Given the description of an element on the screen output the (x, y) to click on. 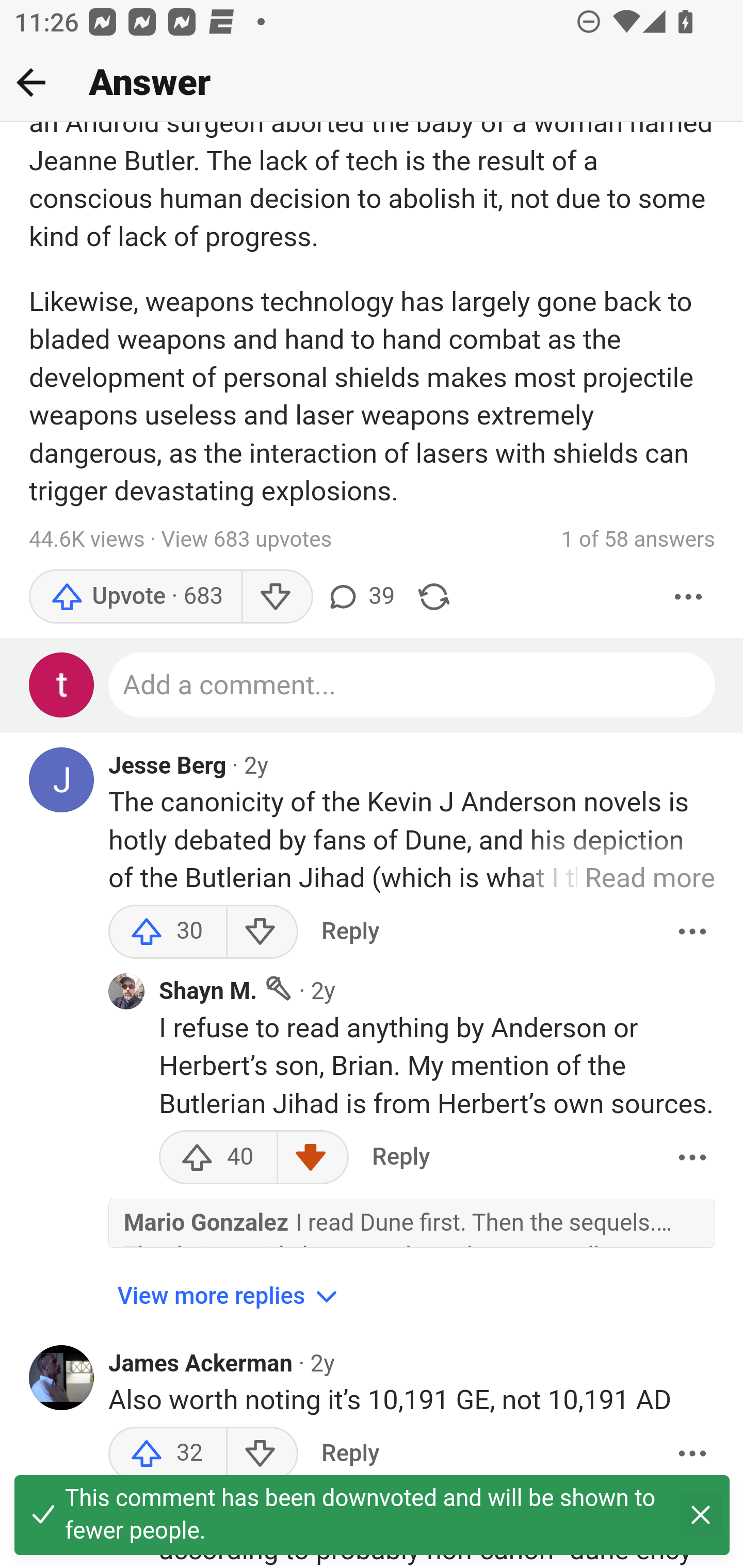
Back (30, 82)
View 683 upvotes (246, 539)
1 of 58 answers (637, 539)
Upvote (135, 597)
Downvote (277, 597)
39 comments (360, 597)
Share (434, 597)
More (688, 597)
Profile photo for Test Appium (61, 685)
Add a comment... (412, 685)
Profile photo for Jesse Berg (61, 780)
Jesse Berg (167, 766)
30 upvotes (167, 932)
Downvote (261, 932)
Reply (350, 932)
More (691, 932)
Profile photo for Shayn M. (126, 991)
Shayn M. (208, 992)
40 upvotes (218, 1157)
Downvote (312, 1157)
Reply (400, 1157)
More (691, 1157)
View more replies (230, 1297)
Profile photo for James Ackerman (61, 1378)
James Ackerman (201, 1363)
32 upvotes (167, 1454)
Downvote (261, 1454)
Reply (350, 1454)
More (691, 1454)
